Given the description of an element on the screen output the (x, y) to click on. 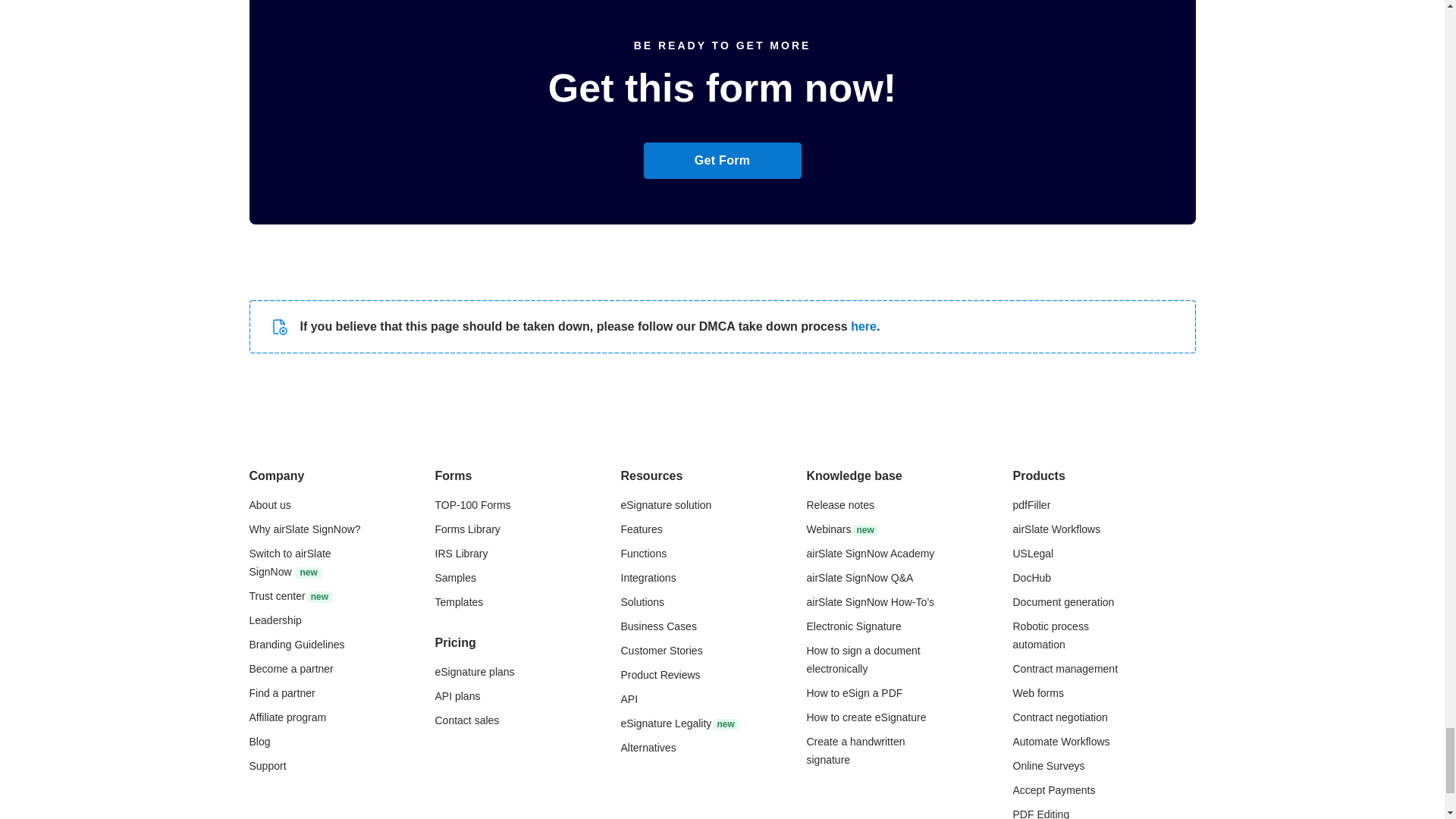
Go to the airSlate partner portal (290, 668)
Go to the top 100 forms page (473, 504)
Go to the  airSlate signNow  API pricing page (457, 695)
Go to the  airSlate signNow  irs library page (461, 553)
Go to the affiliate program page (287, 717)
Go to the  airSlate signNow  forms library page (467, 529)
Go to the partners page (281, 693)
Go to the support center (266, 766)
Go to the sample documents page (455, 577)
Go to the Brand page (295, 644)
